Given the description of an element on the screen output the (x, y) to click on. 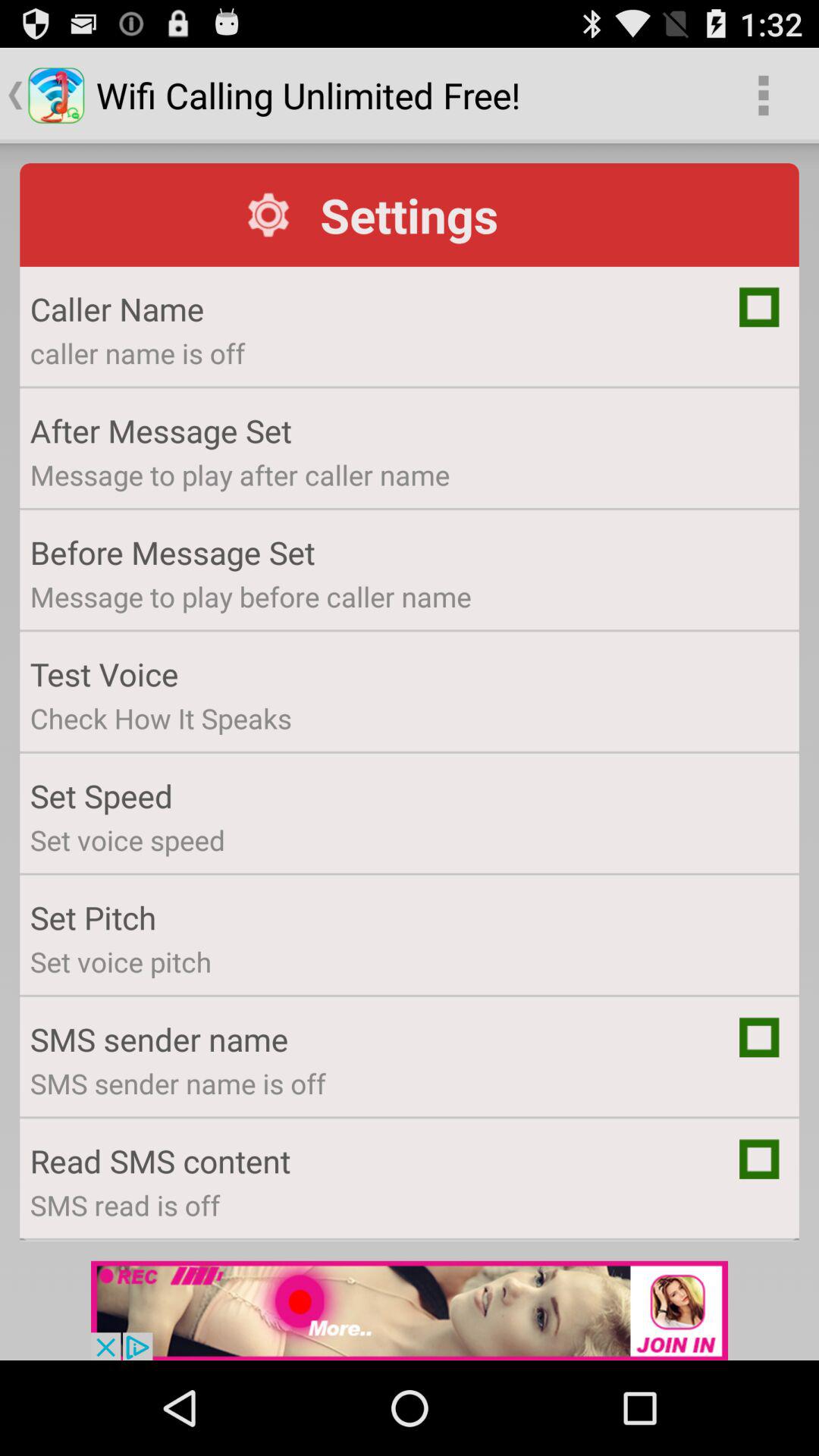
go to the advertisement (409, 1310)
